Given the description of an element on the screen output the (x, y) to click on. 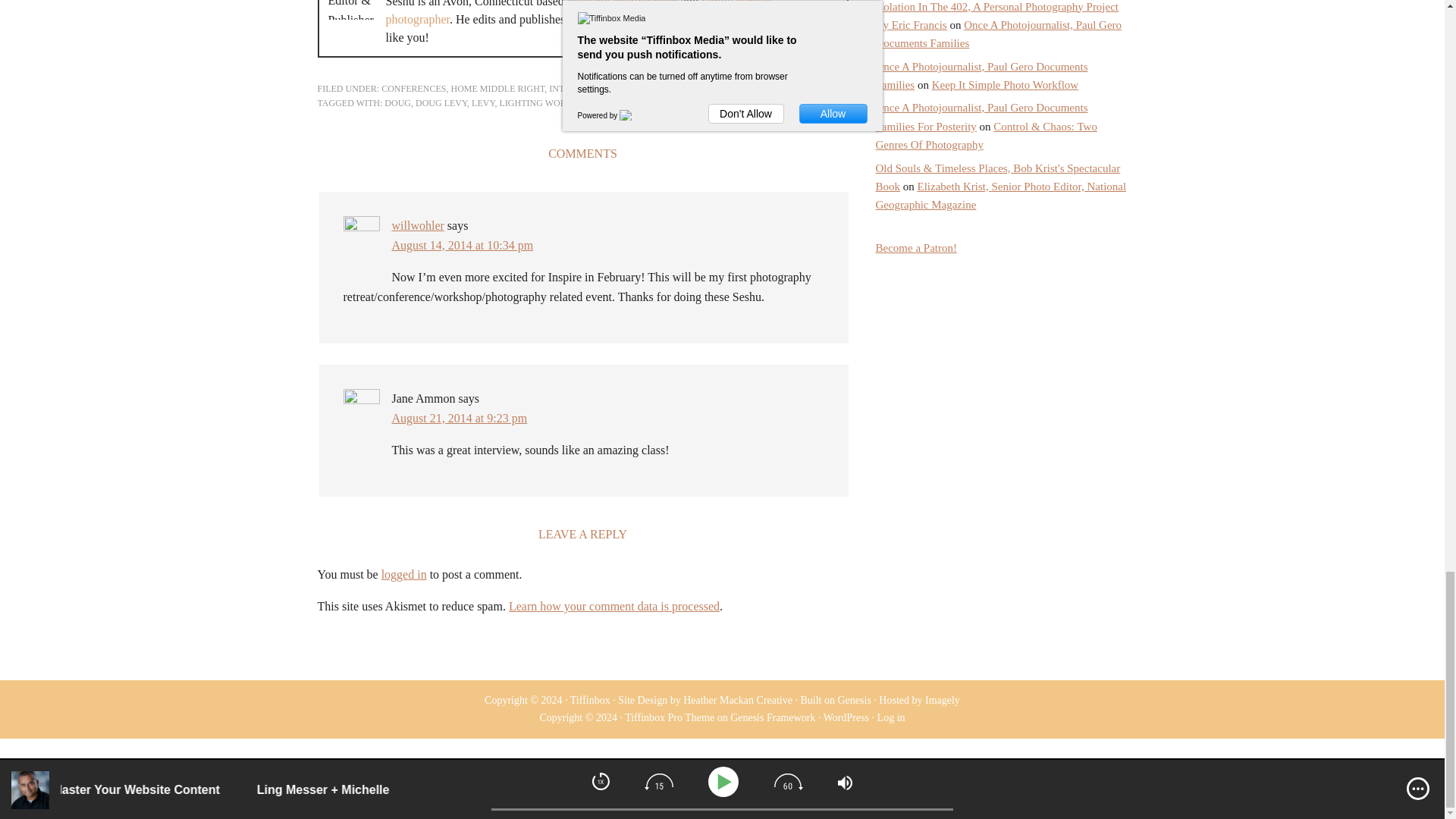
Heather Mackan Creative (737, 699)
Genesis (853, 699)
